Given the description of an element on the screen output the (x, y) to click on. 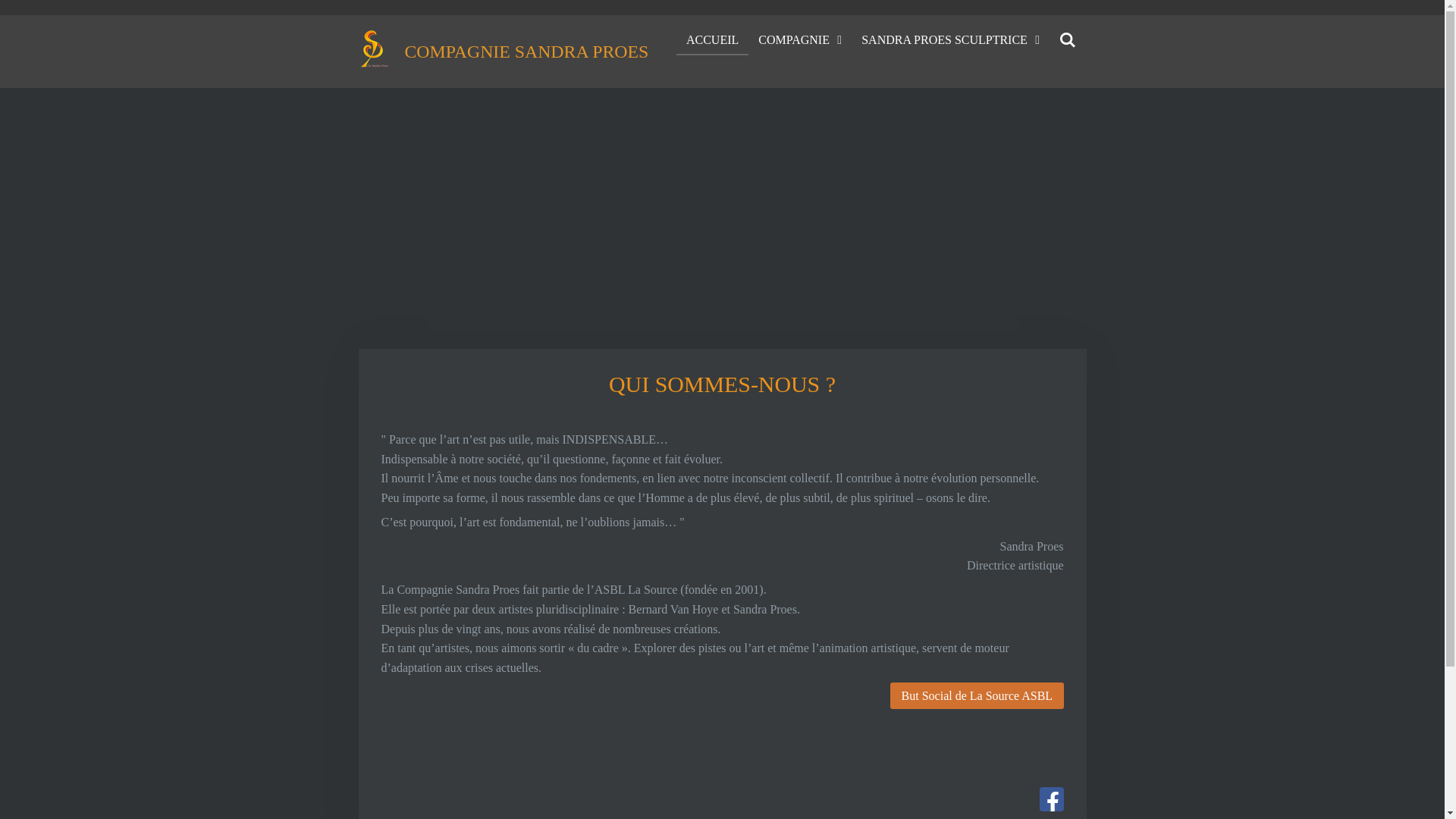
Rechercher Element type: hover (1067, 39)
ACCUEIL Element type: text (712, 39)
SANDRA PROES SCULPTRICE Element type: text (950, 39)
But Social de La Source ASBL Element type: text (976, 695)
COMPAGNIE Element type: text (799, 39)
compagniesandraproes.be Element type: hover (373, 48)
